Given the description of an element on the screen output the (x, y) to click on. 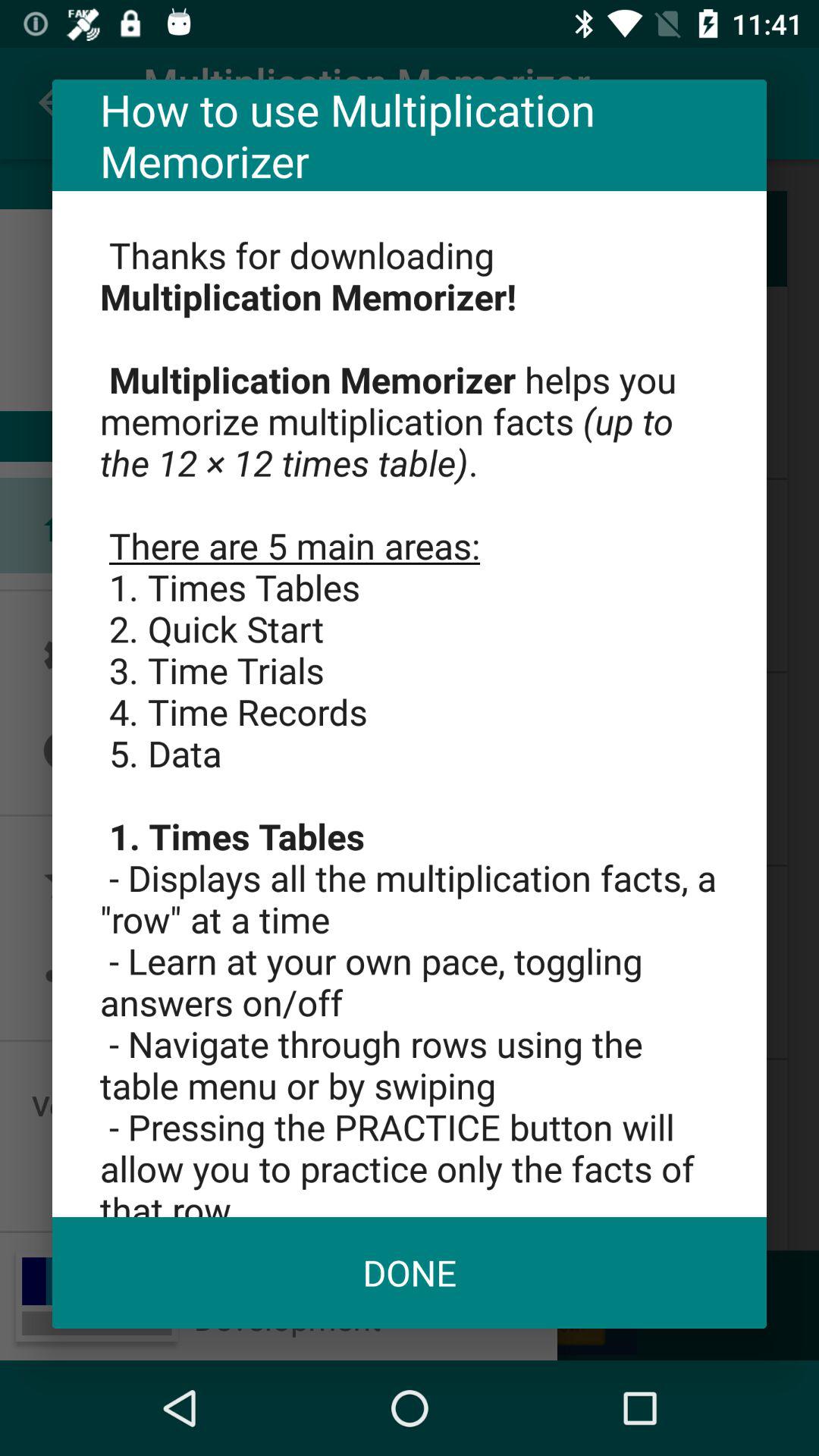
click the icon below thanks for downloading (409, 1272)
